Given the description of an element on the screen output the (x, y) to click on. 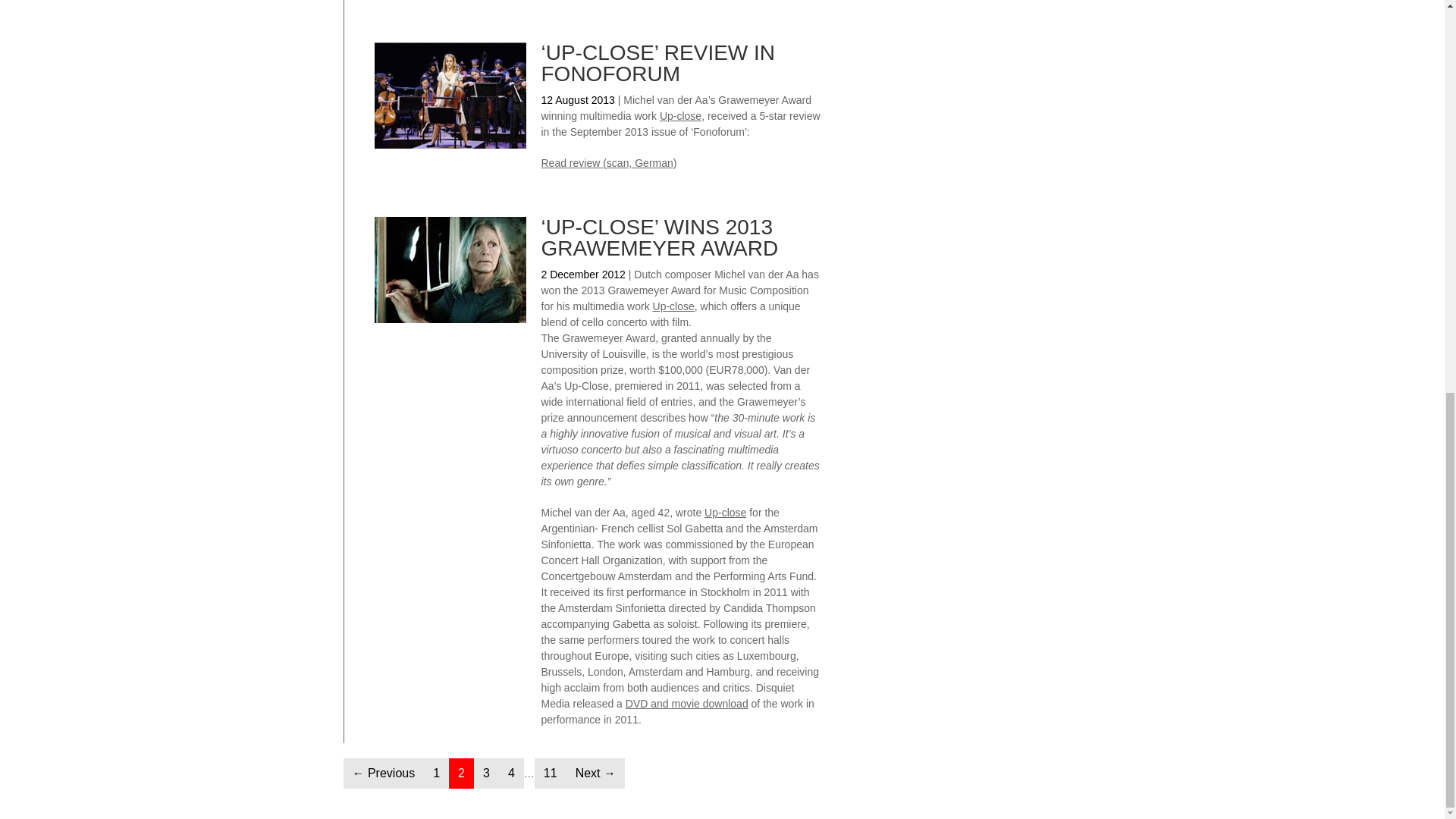
Up-close (724, 512)
Up-close (550, 773)
Up-close (673, 306)
DVD and movie download (680, 115)
